Given the description of an element on the screen output the (x, y) to click on. 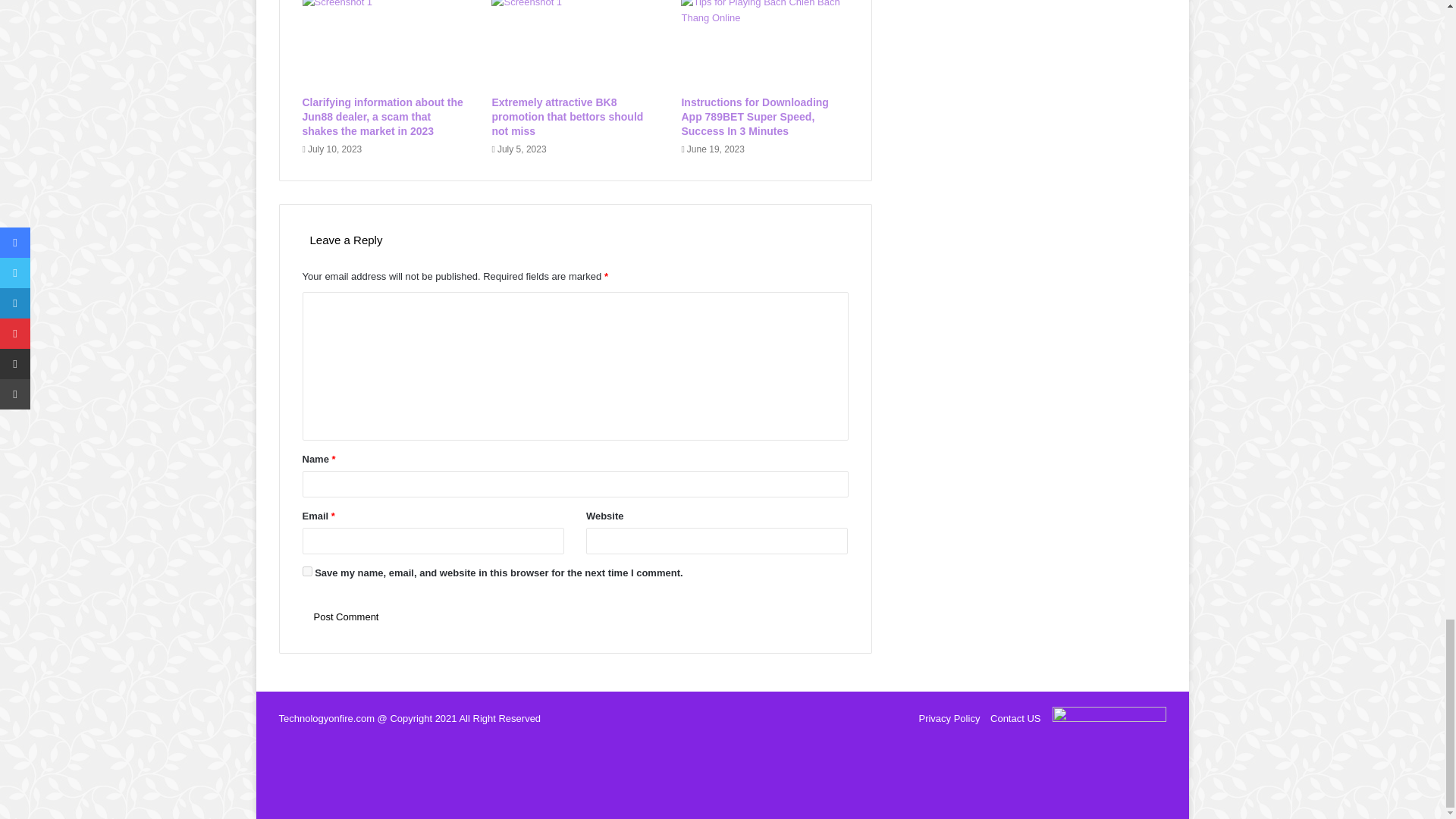
yes (306, 571)
Post Comment (345, 616)
